Given the description of an element on the screen output the (x, y) to click on. 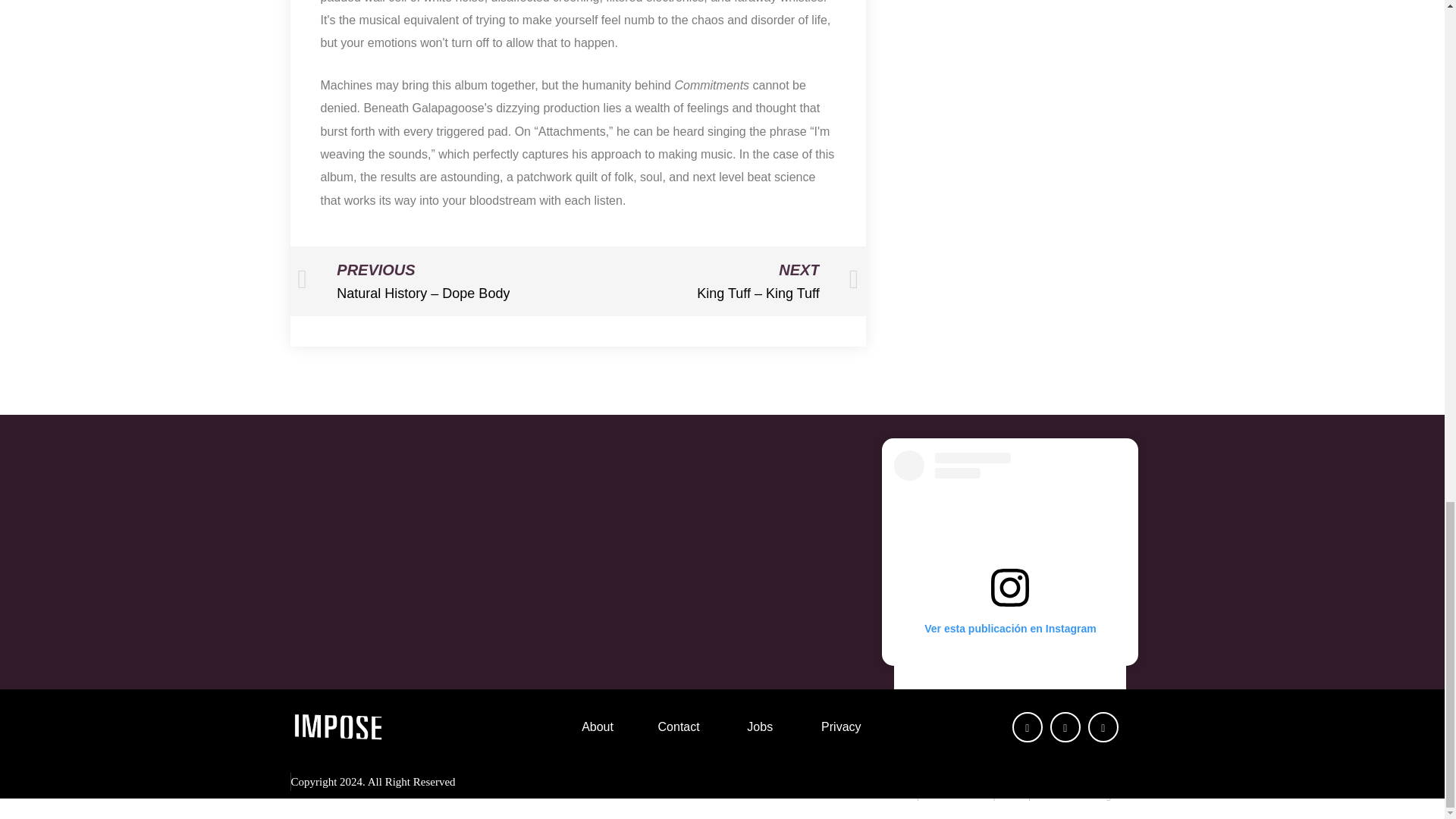
Twitter Timeline (721, 551)
